Given the description of an element on the screen output the (x, y) to click on. 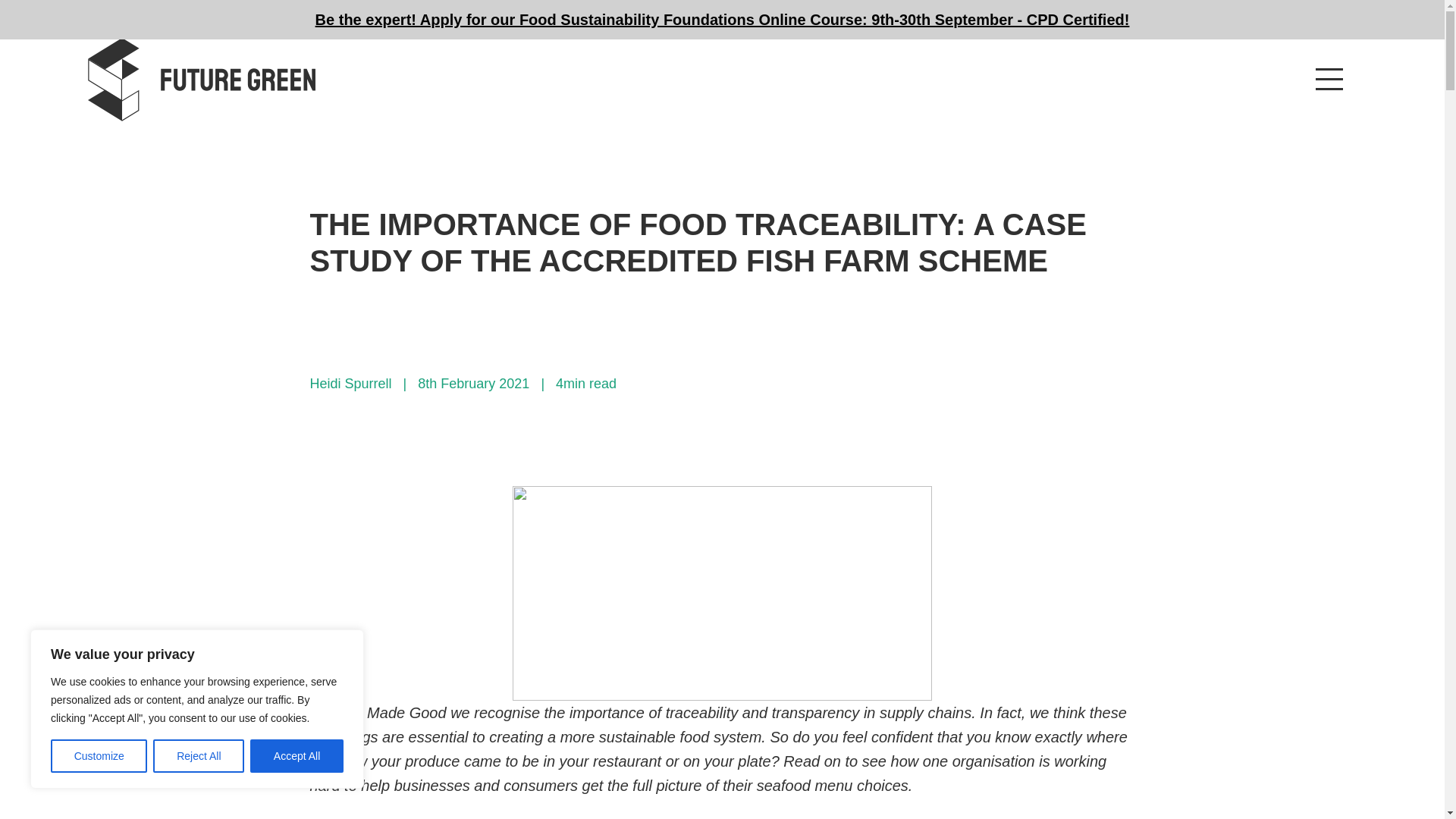
Reject All (198, 756)
Customize (98, 756)
Accept All (296, 756)
